Given the description of an element on the screen output the (x, y) to click on. 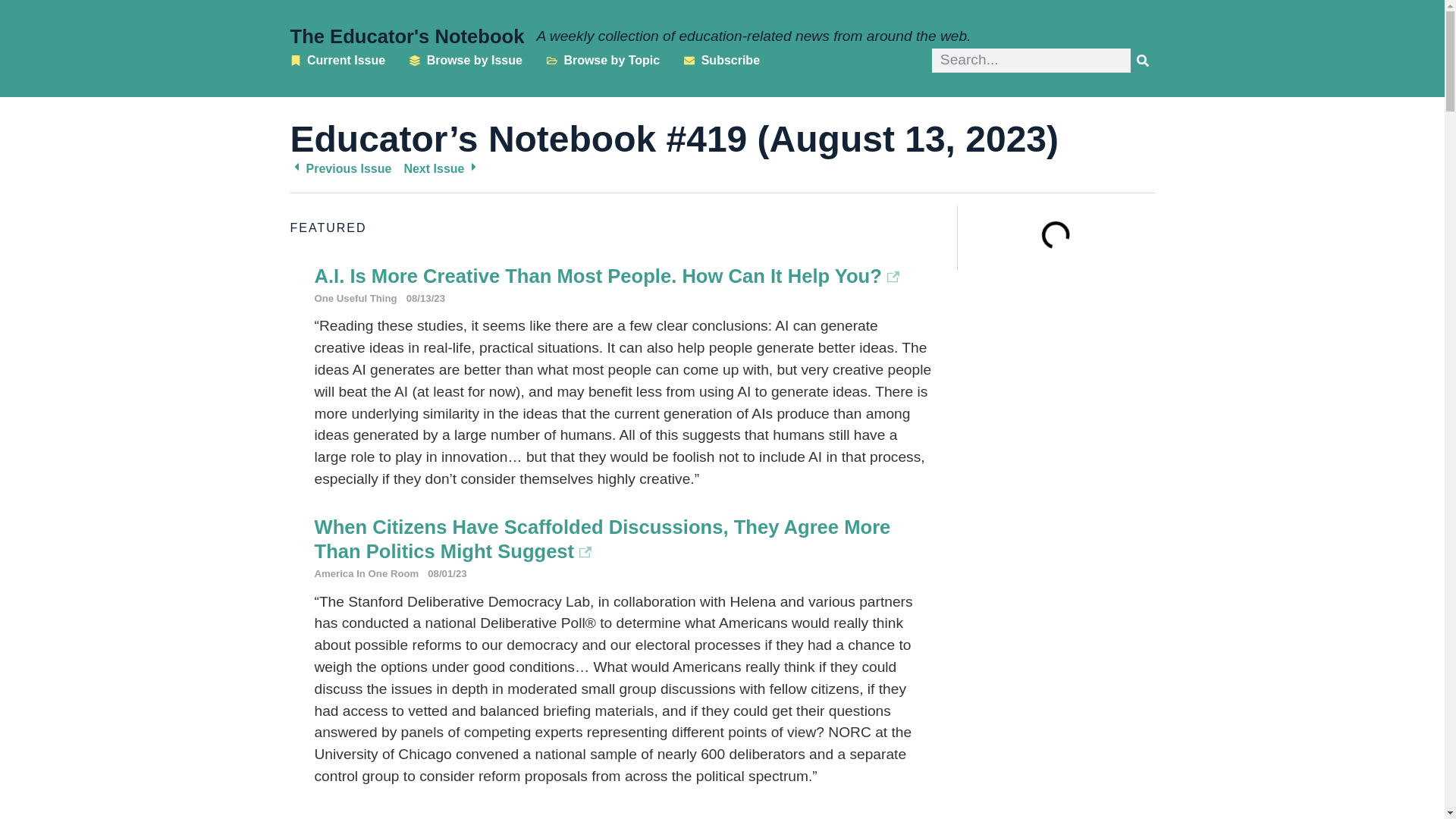
Browse by Issue (465, 60)
The Educator's Notebook (406, 35)
Next Issue (441, 169)
Browse by Topic (603, 60)
A.I. Is More Creative Than Most People. How Can It Help You? (606, 275)
Current Issue (337, 60)
Previous Issue (340, 169)
Subscribe (722, 60)
